Given the description of an element on the screen output the (x, y) to click on. 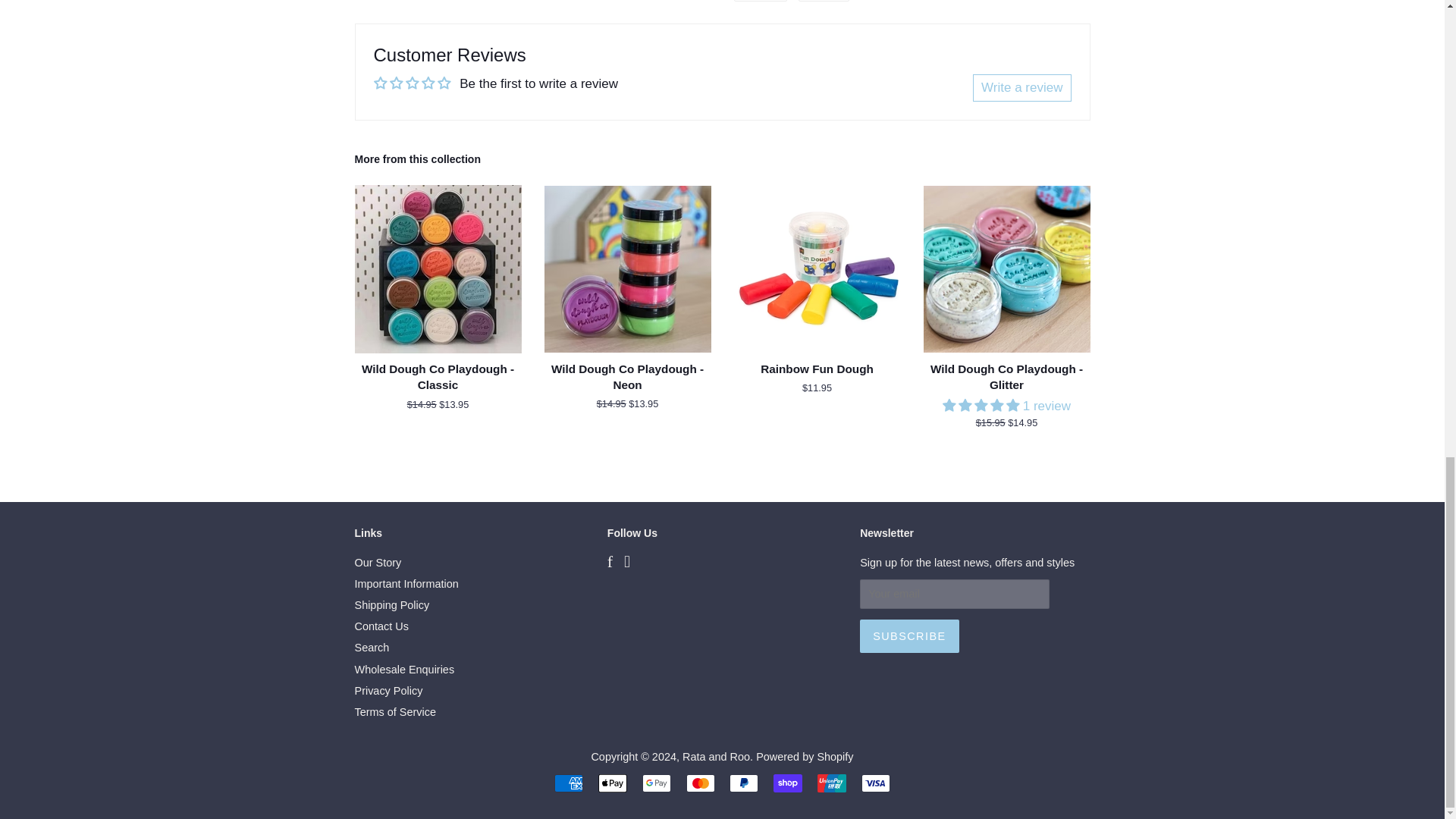
Union Pay (830, 782)
Pin on Pinterest (822, 0)
Visa (875, 782)
Apple Pay (612, 782)
Share on Facebook (760, 0)
Mastercard (699, 782)
Subscribe (909, 635)
Google Pay (656, 782)
American Express (568, 782)
PayPal (743, 782)
